Given the description of an element on the screen output the (x, y) to click on. 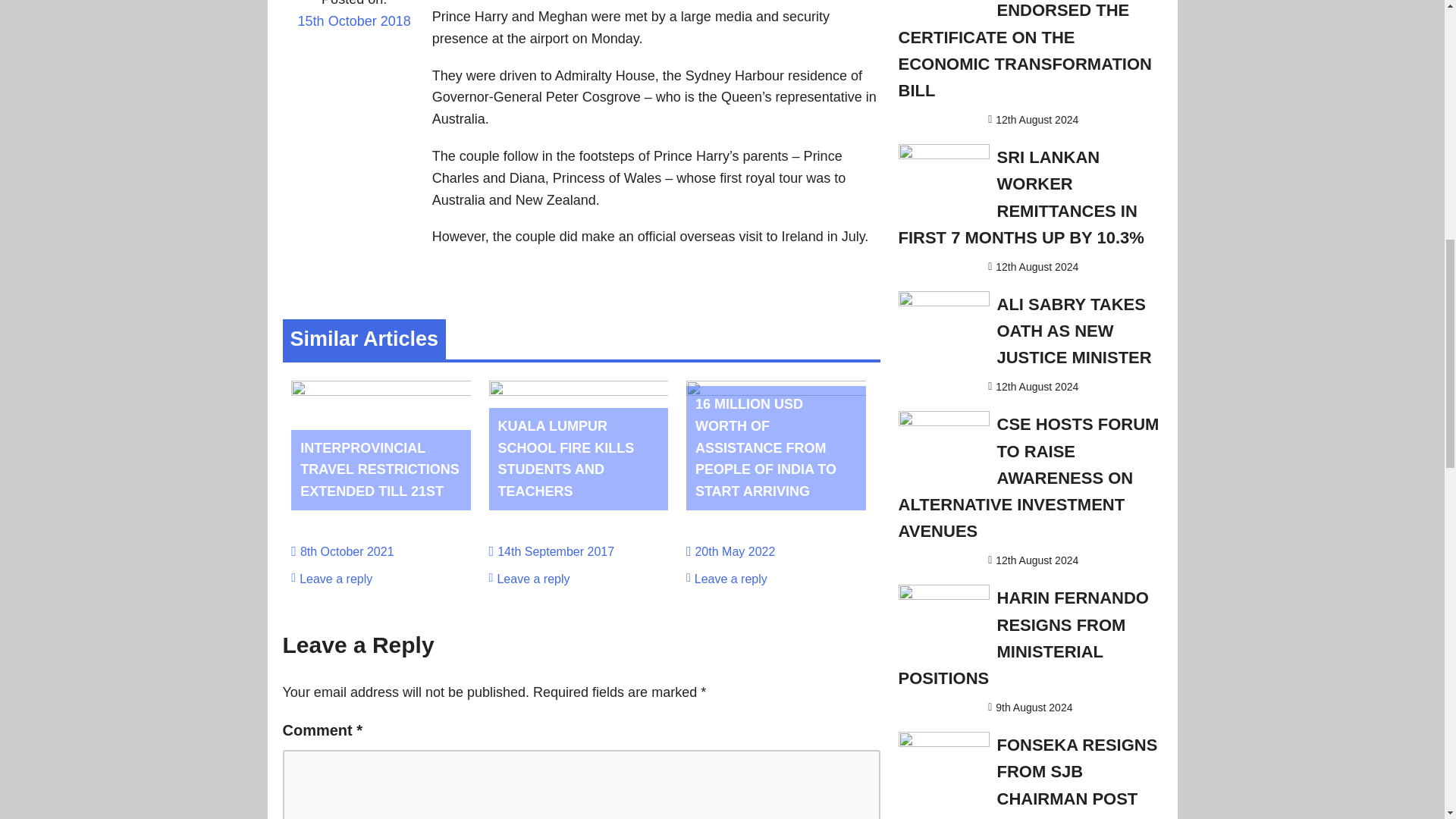
Interprovincial travel restrictions extended till 21st (378, 468)
Interprovincial travel restrictions extended till 21st (380, 391)
KUALA LUMPUR SCHOOL FIRE KILLS STUDENTS AND TEACHERS (565, 458)
Kuala Lumpur school fire kills students and teachers (565, 458)
Leave a reply (335, 578)
15th October 2018 (353, 30)
INTERPROVINCIAL TRAVEL RESTRICTIONS EXTENDED TILL 21ST (378, 468)
